Given the description of an element on the screen output the (x, y) to click on. 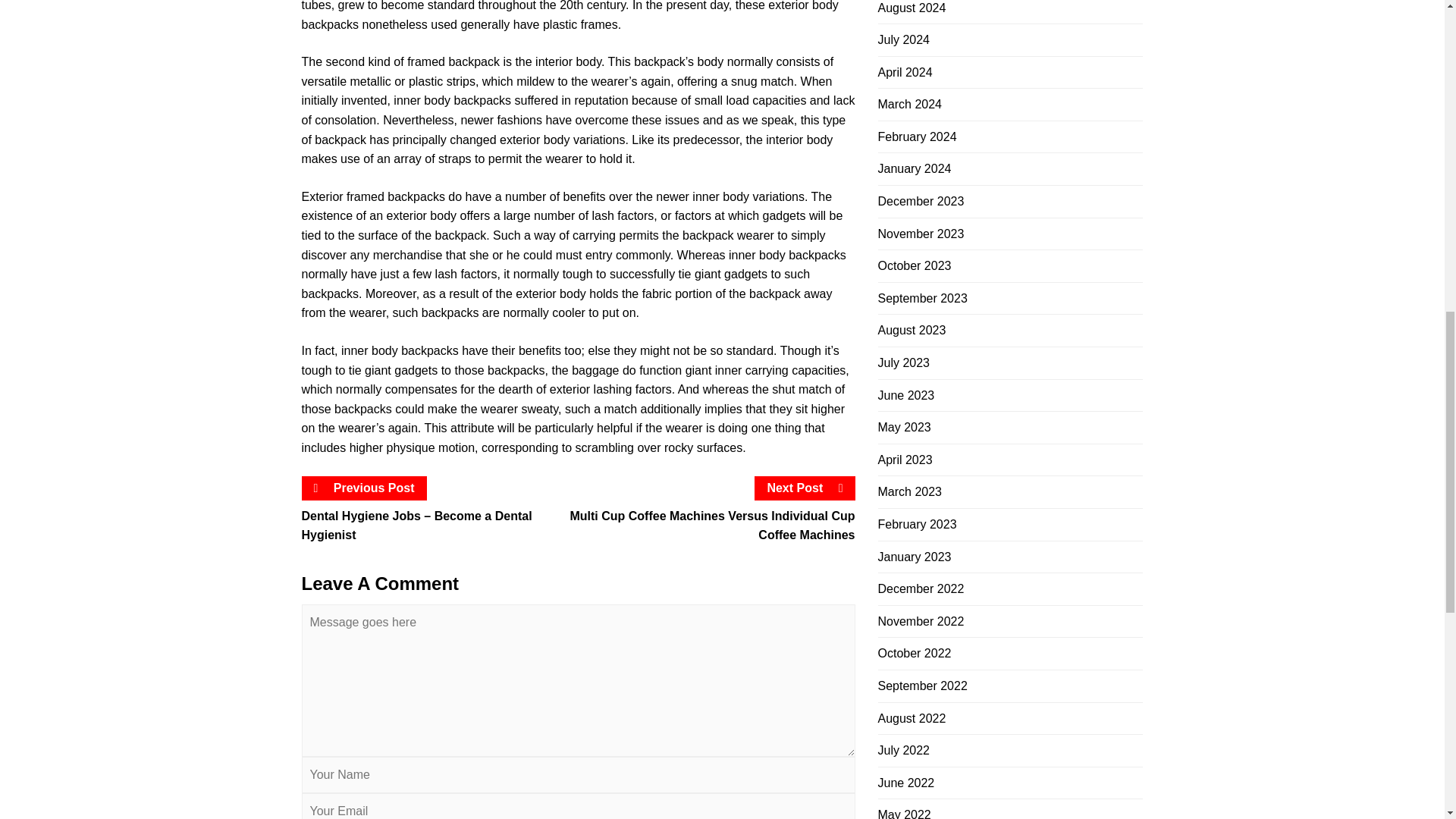
August 2024 (911, 7)
September 2023 (922, 297)
February 2024 (916, 136)
June 2023 (905, 395)
October 2023 (914, 265)
August 2023 (911, 329)
Next Post (805, 487)
April 2024 (905, 72)
February 2023 (916, 523)
December 2022 (920, 588)
